Given the description of an element on the screen output the (x, y) to click on. 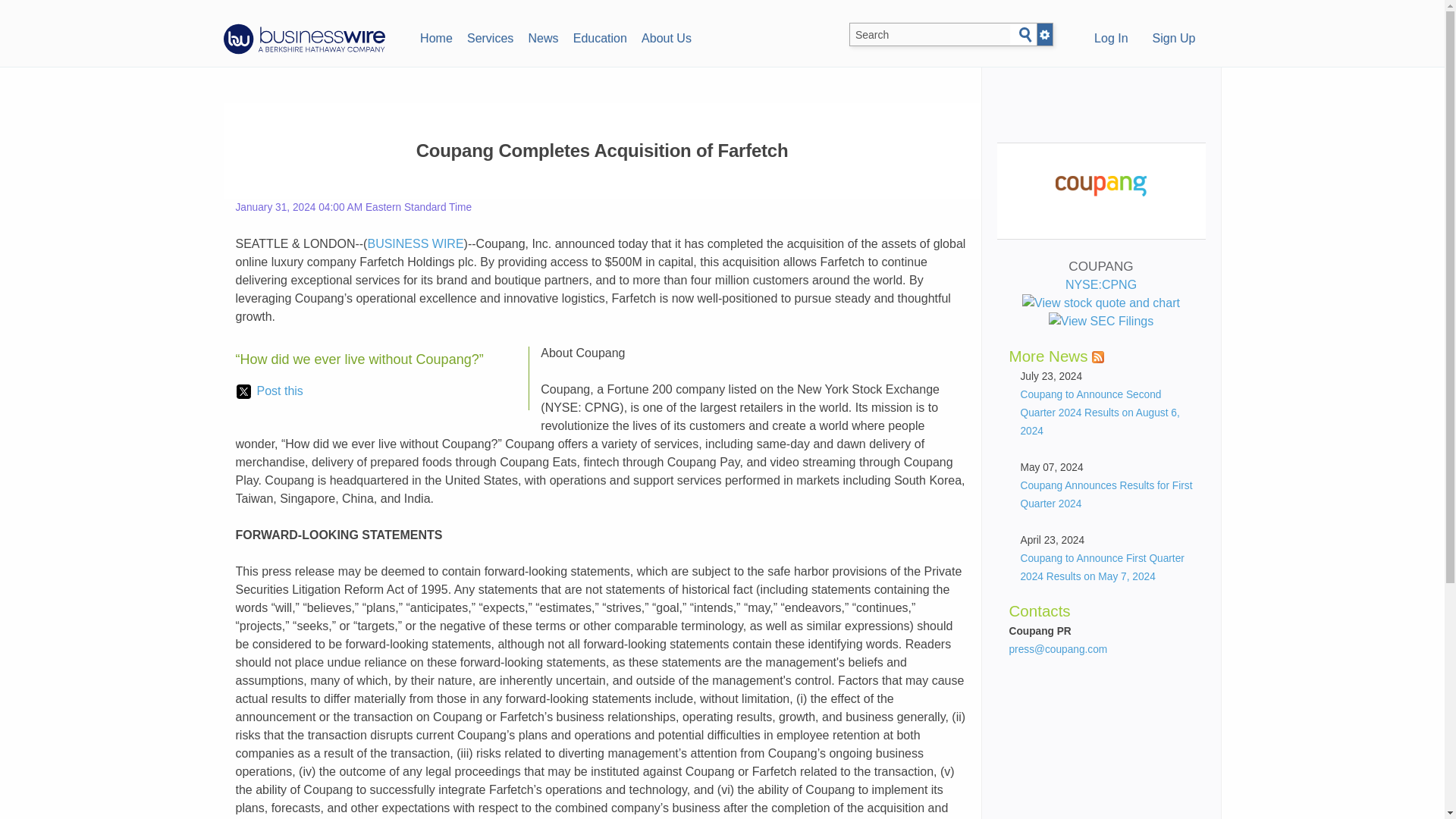
Services (490, 36)
About Us (665, 36)
Coupang Announces Results for First Quarter 2024 (1106, 494)
BUSINESS WIRE (414, 243)
Search (1025, 34)
NYSE:CPNG (1100, 293)
Search BusinessWire.com (930, 34)
RSS feed for null (1097, 357)
News (543, 36)
